Given the description of an element on the screen output the (x, y) to click on. 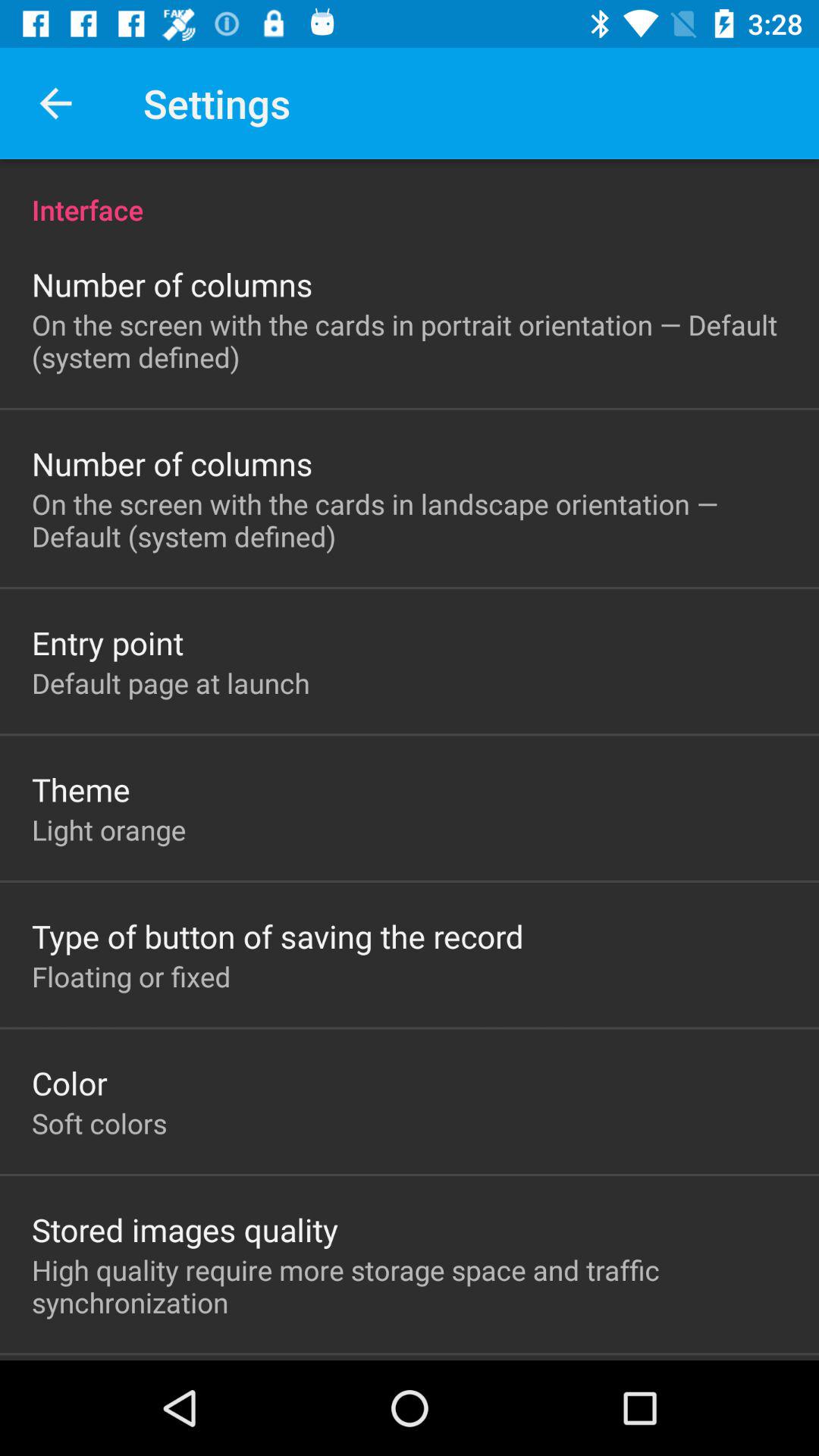
press the item below theme icon (108, 829)
